Given the description of an element on the screen output the (x, y) to click on. 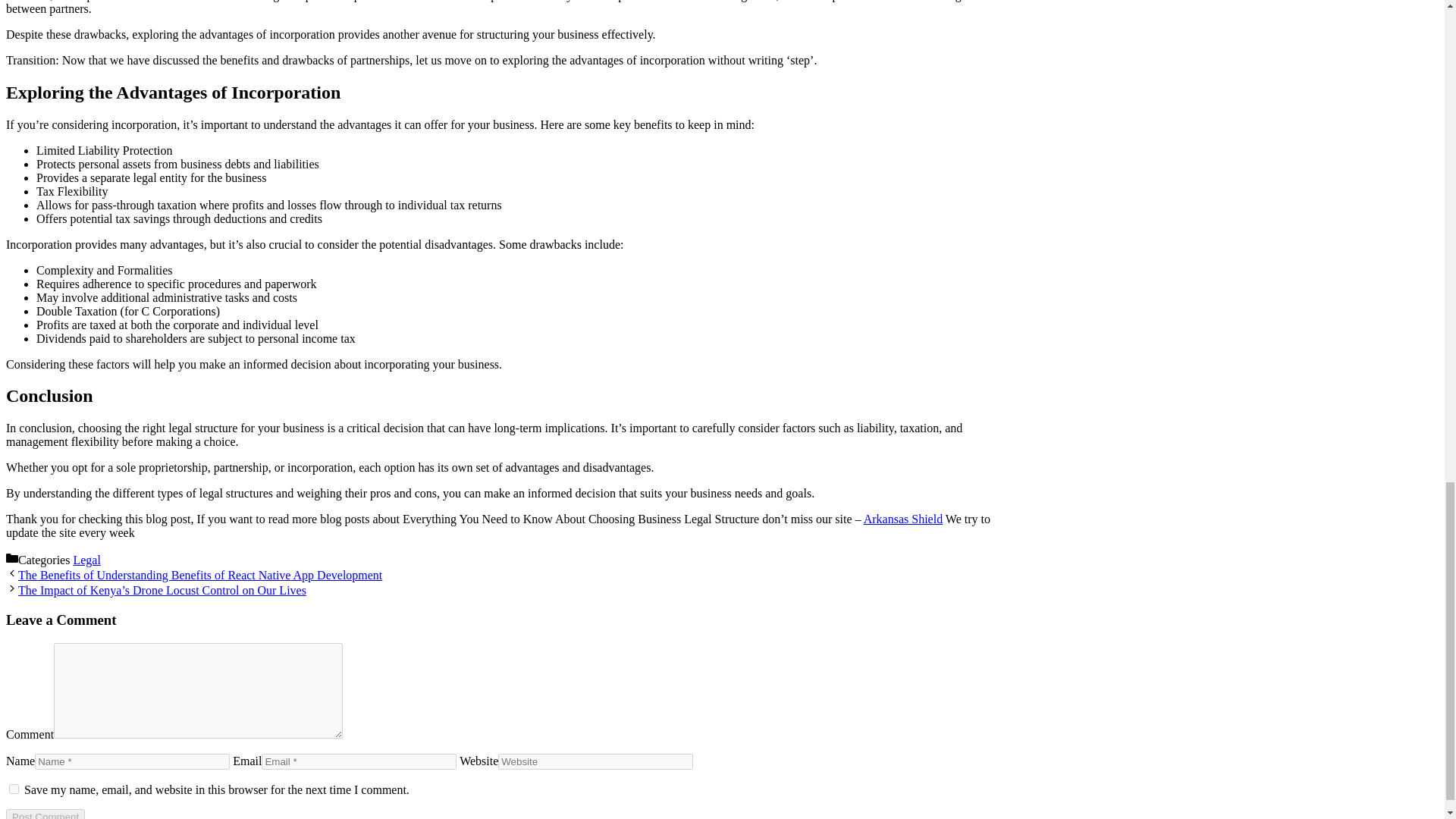
Arkansas Shield (902, 518)
Legal (86, 559)
yes (13, 788)
